Given the description of an element on the screen output the (x, y) to click on. 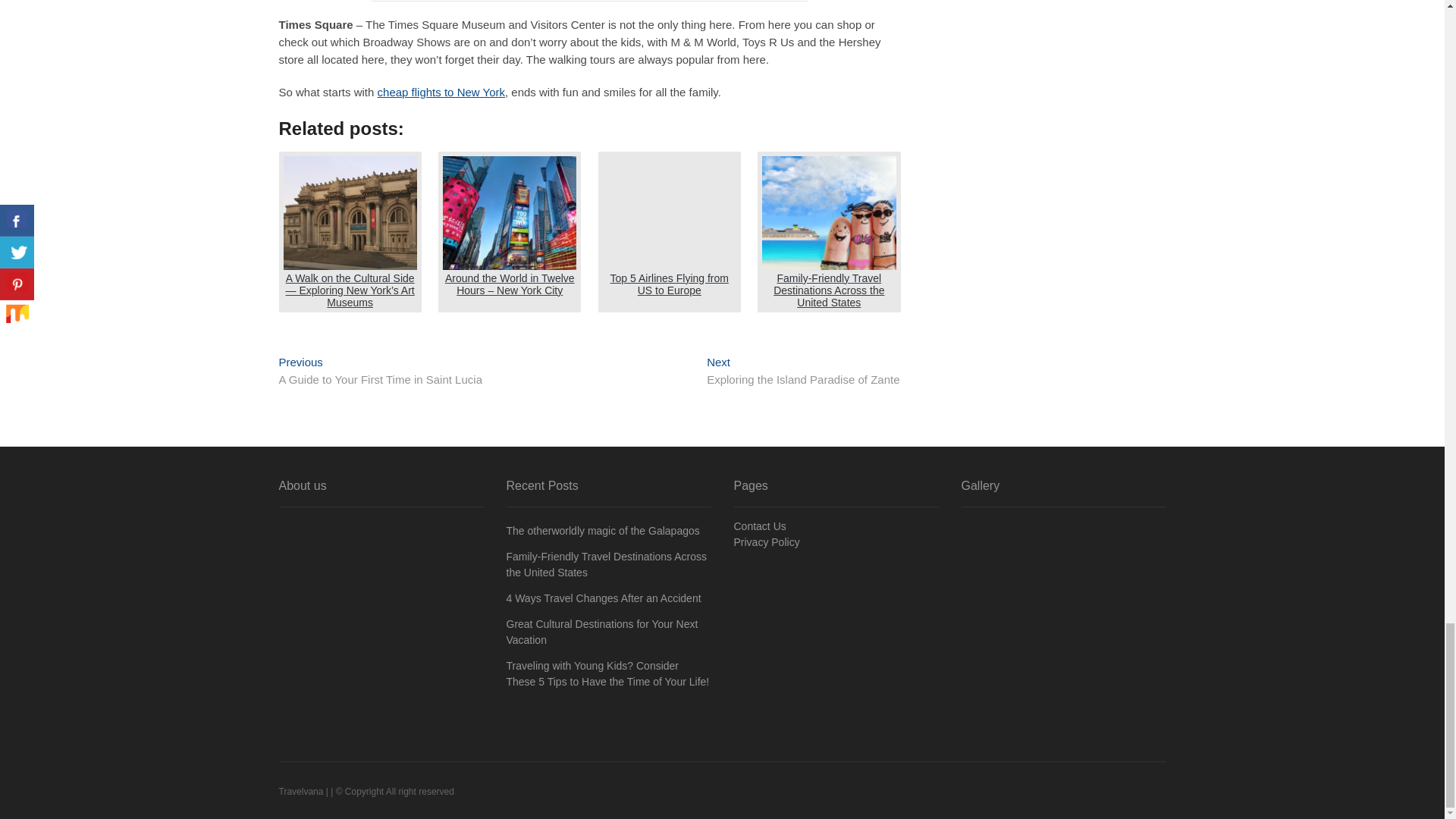
cheap flights to New York (802, 372)
